Given the description of an element on the screen output the (x, y) to click on. 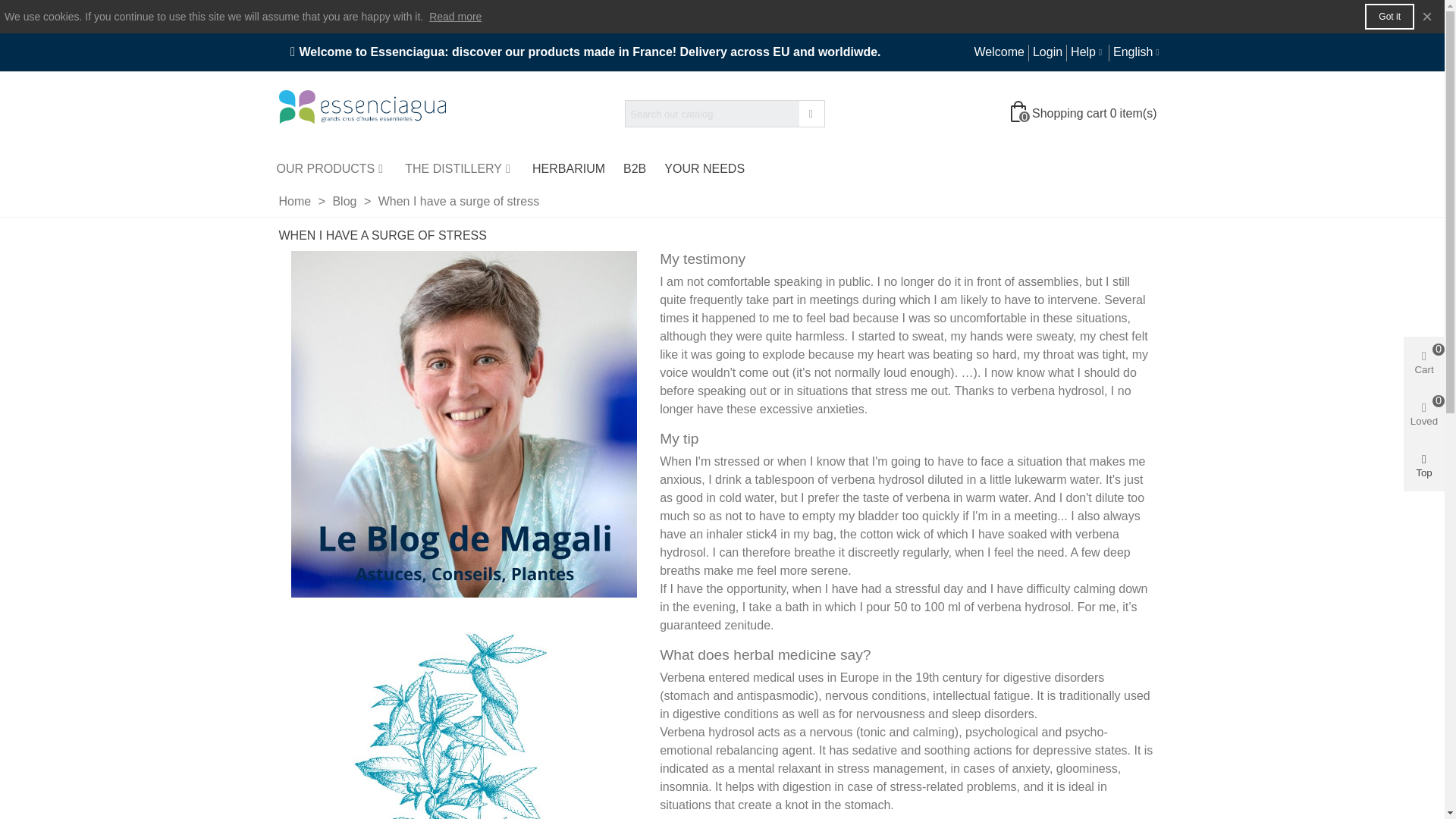
THE DISTILLERY (459, 168)
Log in to your customer account (1046, 52)
Got it (1389, 16)
View my shopping cart (1085, 113)
Read more (455, 16)
OUR PRODUCTS (331, 168)
Essenciagua (362, 114)
Read more (455, 16)
Login (1046, 52)
Got it (1389, 16)
